Given the description of an element on the screen output the (x, y) to click on. 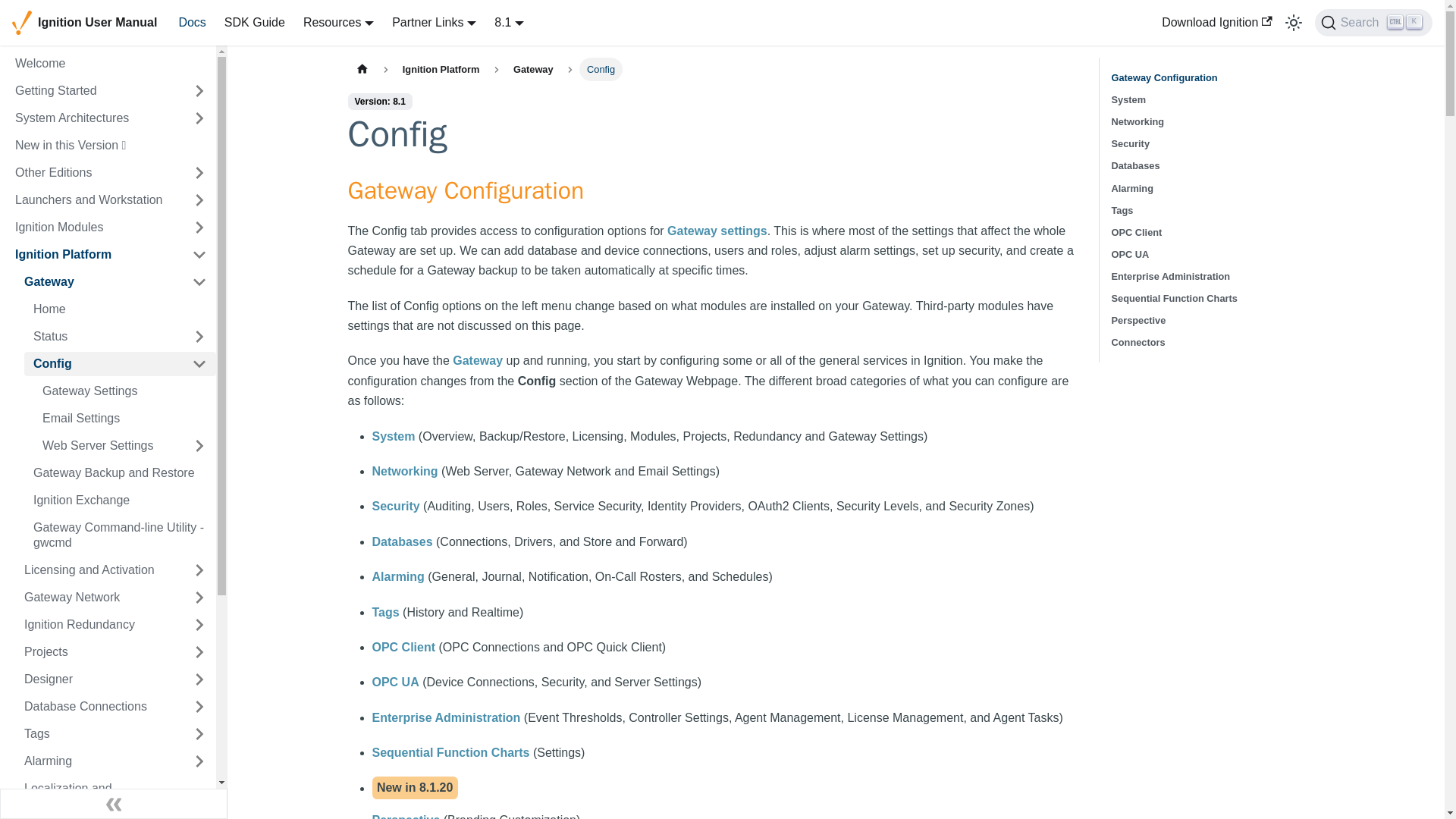
Partner Links (433, 21)
8.1 (509, 21)
Collapse sidebar (113, 803)
Download Ignition (1217, 22)
Ignition Modules (94, 227)
Other Editions (94, 172)
Getting Started (94, 90)
Resources (1373, 22)
Docs (338, 21)
